Given the description of an element on the screen output the (x, y) to click on. 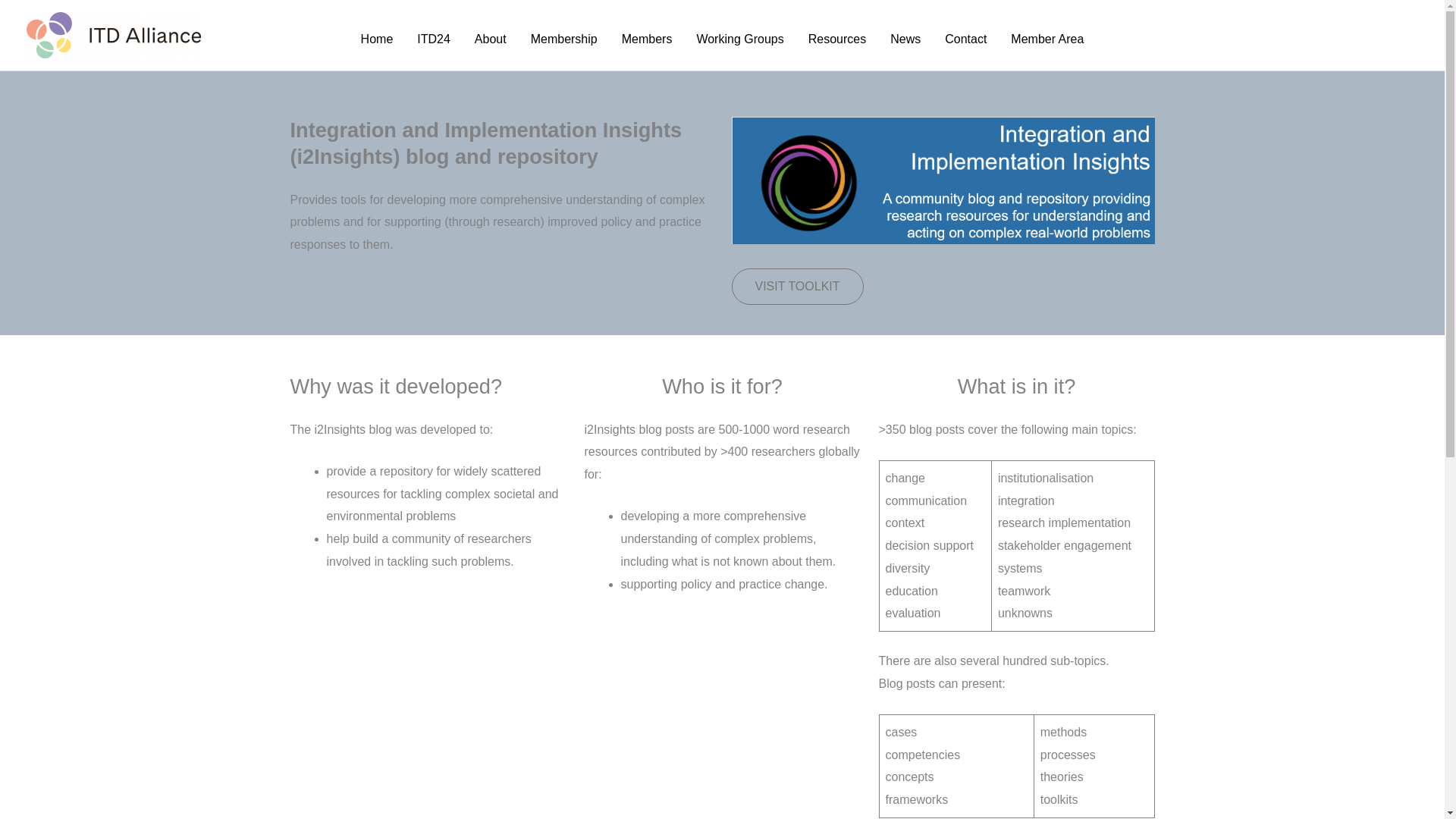
Working Groups (739, 38)
Membership (564, 38)
About (490, 38)
ITD24 (433, 38)
Home (377, 38)
Members (647, 38)
Resources (836, 38)
